Given the description of an element on the screen output the (x, y) to click on. 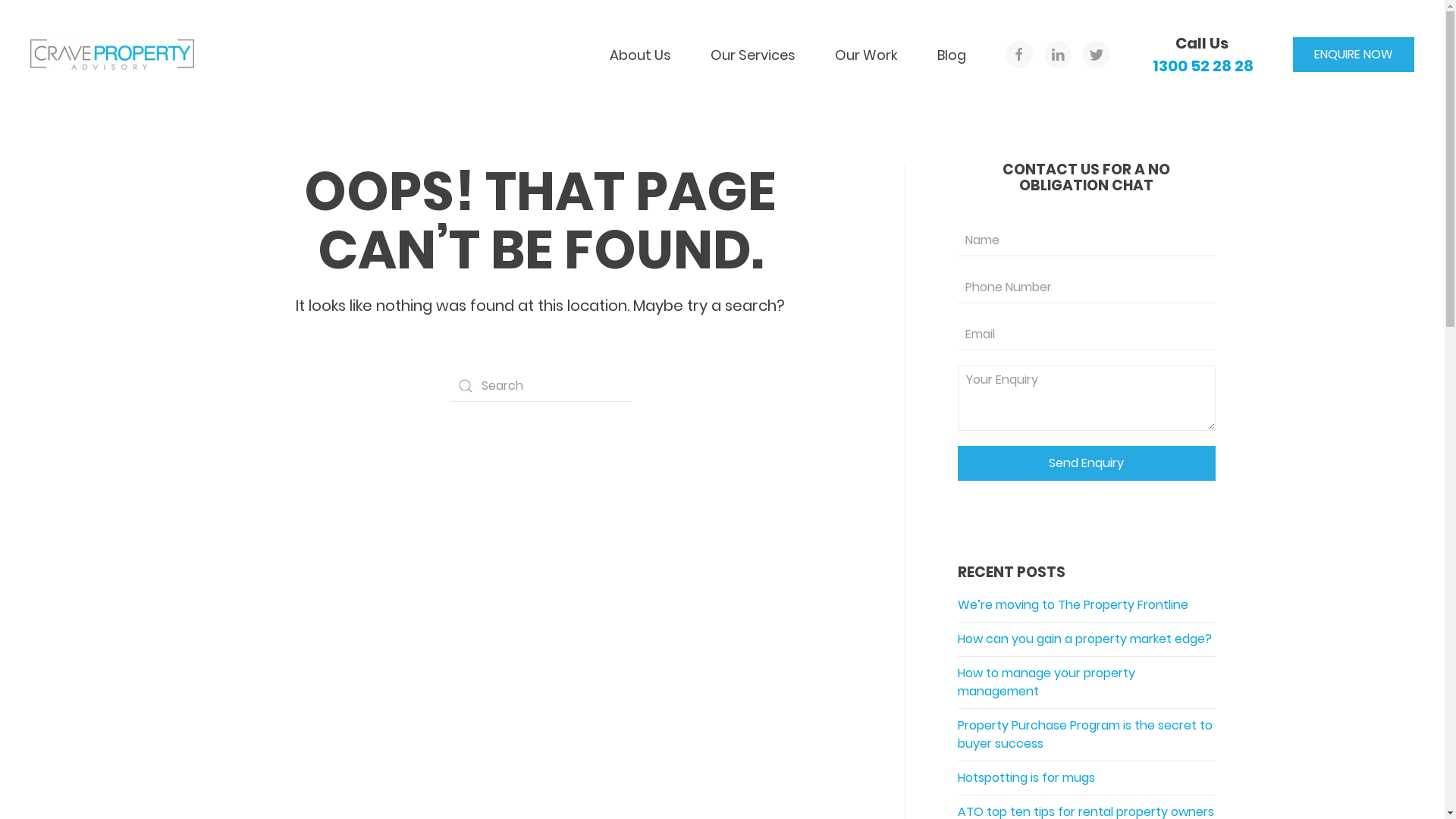
How to manage your property management Element type: text (1046, 681)
Hotspotting is for mugs Element type: text (1026, 777)
Our Services Element type: text (752, 54)
About Us Element type: text (639, 54)
How can you gain a property market edge? Element type: text (1084, 638)
Send Enquiry Element type: text (1086, 462)
Blog Element type: text (951, 54)
ENQUIRE NOW Element type: text (1353, 54)
Property Purchase Program is the secret to buyer success Element type: text (1084, 734)
Our Work Element type: text (866, 54)
1300 52 28 28 Element type: text (1201, 65)
